Given the description of an element on the screen output the (x, y) to click on. 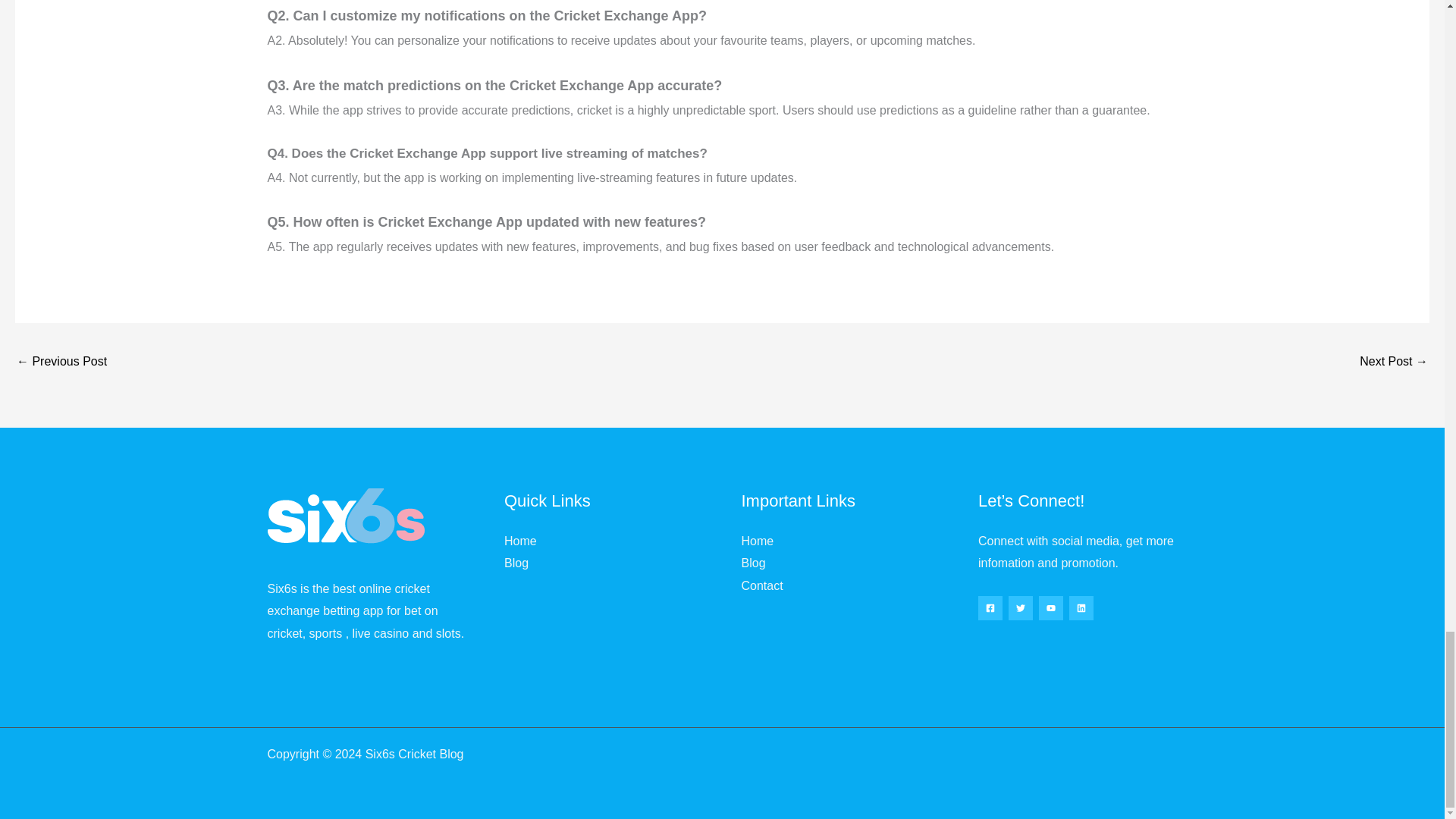
Contact (762, 585)
Cricket Exchange Live Score: Stay Updated with Every Ball (61, 362)
Home (757, 540)
Home (520, 540)
Blog (515, 562)
Blog (753, 562)
